Given the description of an element on the screen output the (x, y) to click on. 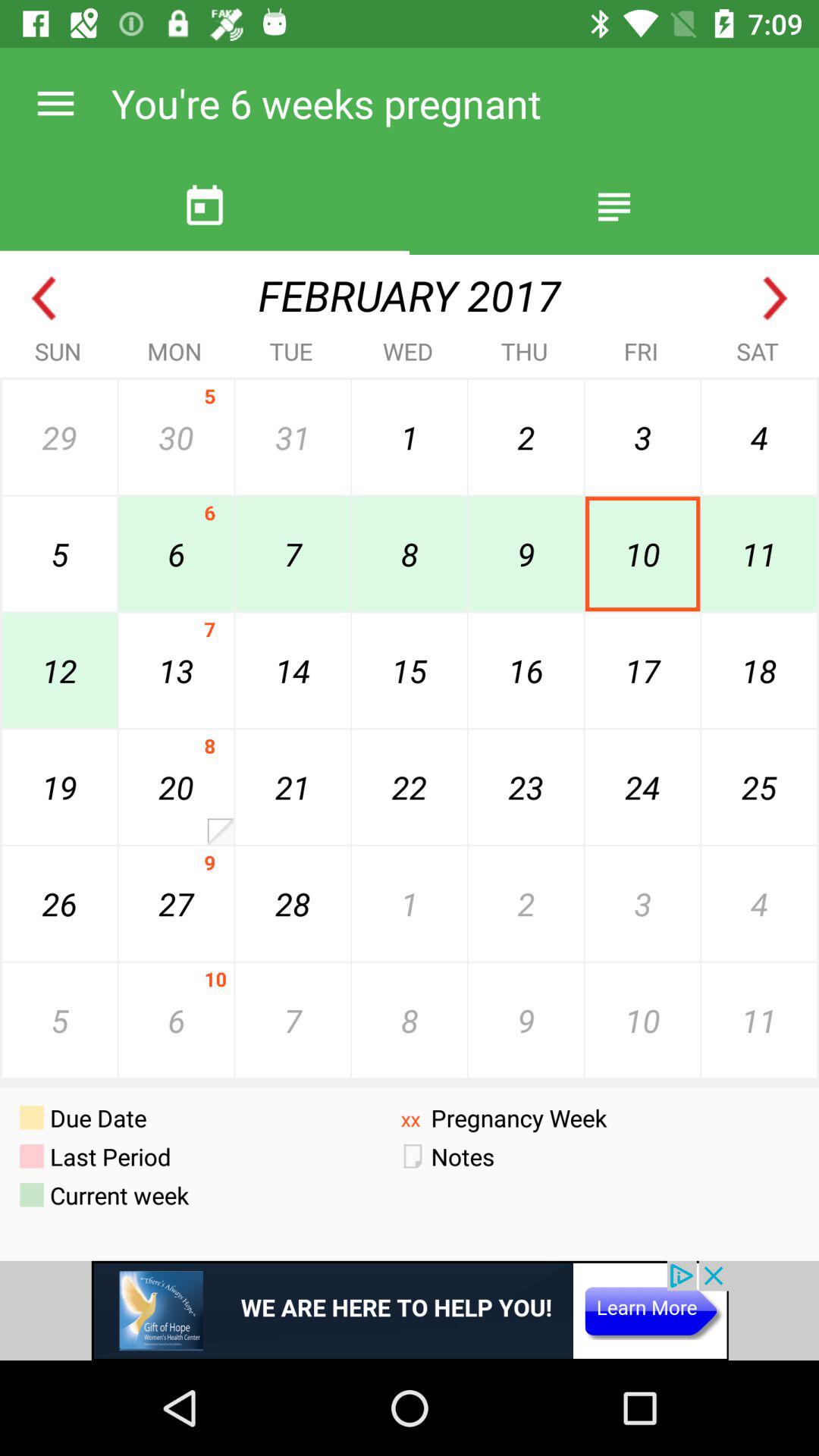
advertisement link (409, 1310)
